Given the description of an element on the screen output the (x, y) to click on. 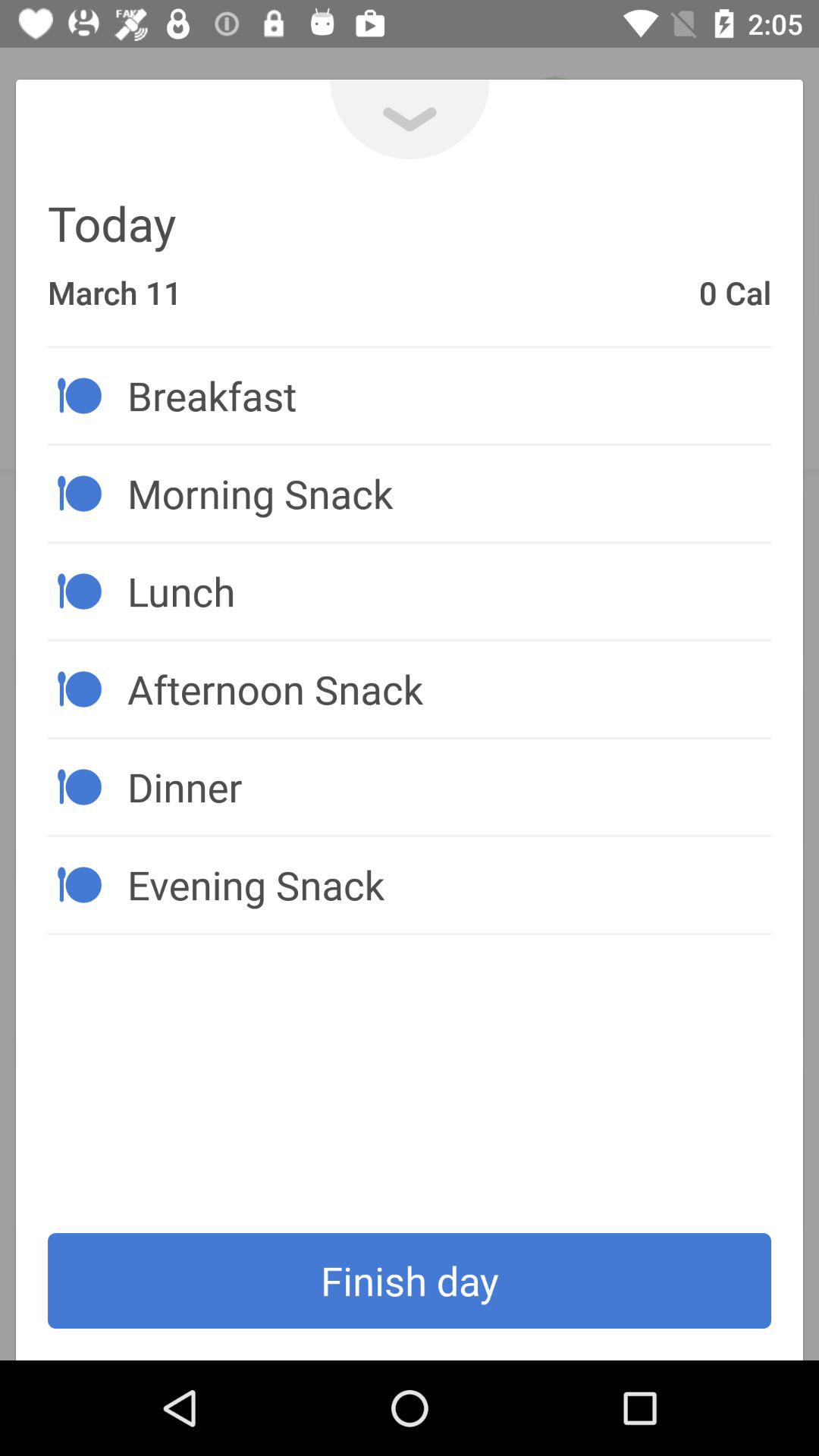
click the icon above the finish day icon (449, 884)
